Given the description of an element on the screen output the (x, y) to click on. 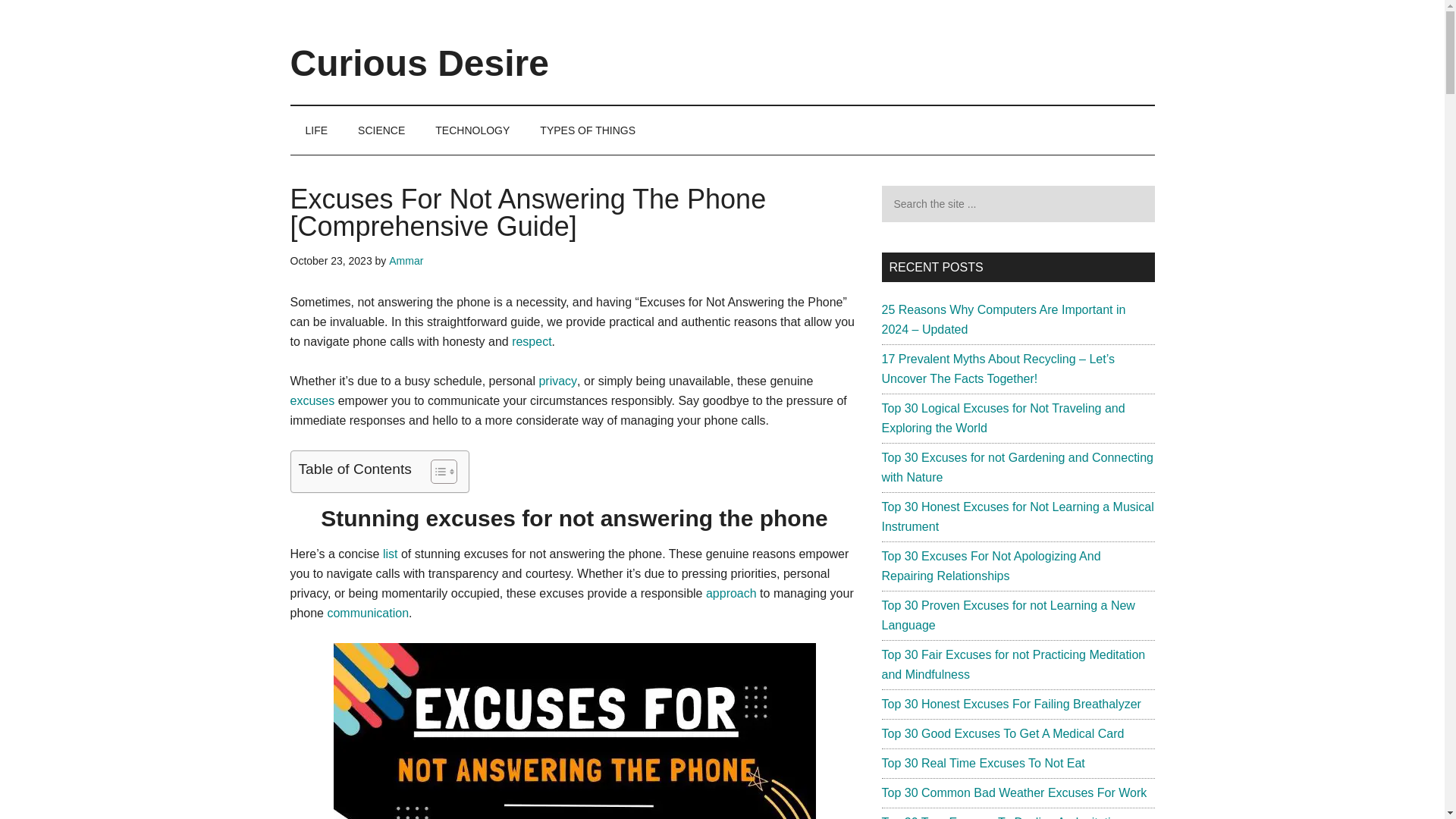
privacy (557, 380)
SCIENCE (381, 130)
LIFE (315, 130)
Curious Desire (418, 63)
respect (531, 341)
TECHNOLOGY (472, 130)
excuses (311, 400)
TYPES OF THINGS (587, 130)
Ammar (405, 260)
